Given the description of an element on the screen output the (x, y) to click on. 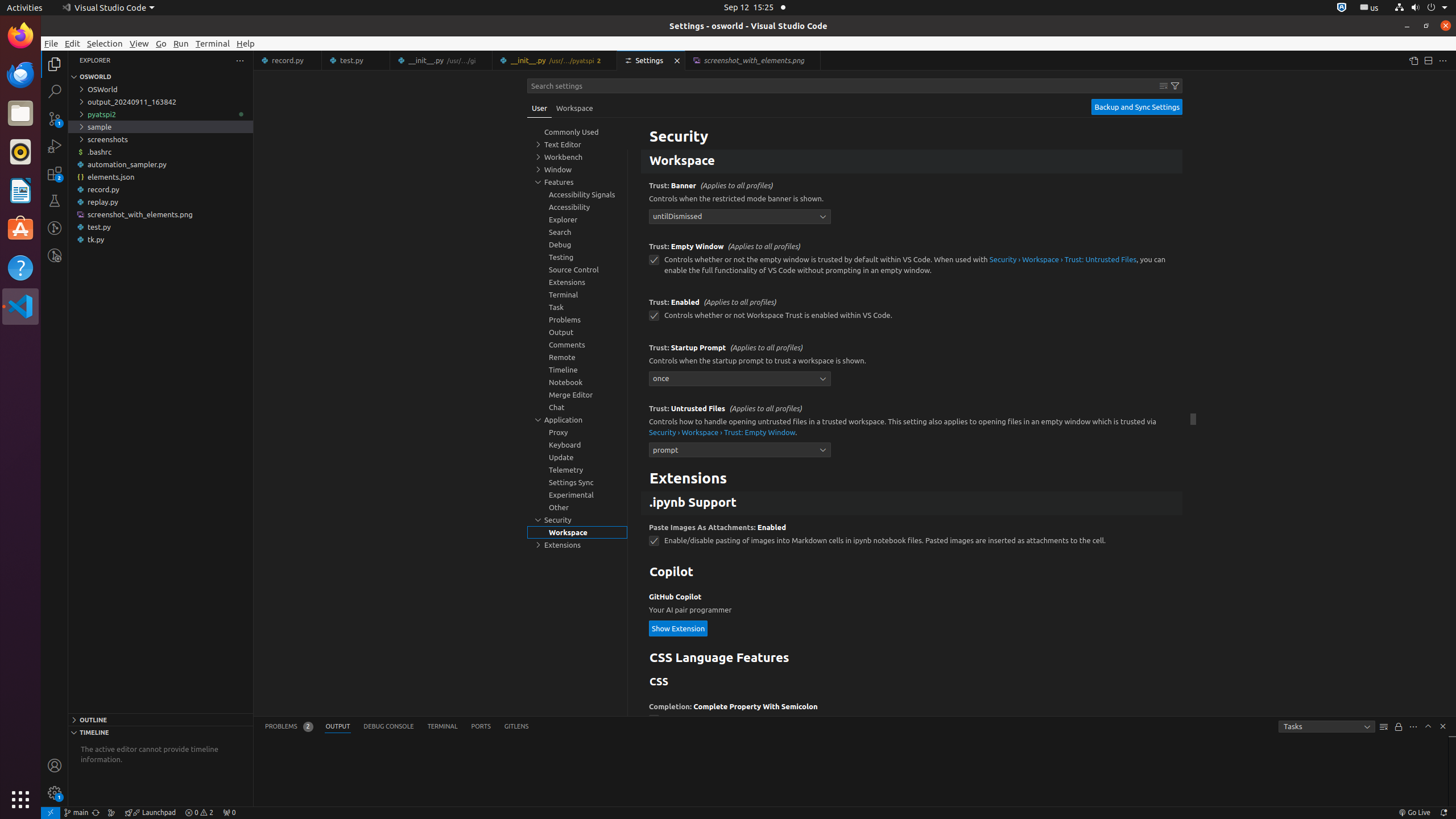
Warnings: 2 Element type: push-button (199, 812)
Edit Element type: push-button (72, 43)
Settings Sync, group Element type: tree-item (577, 482)
Hide Panel Element type: push-button (1442, 726)
Turn Auto Scrolling Off Element type: check-box (1398, 726)
